Given the description of an element on the screen output the (x, y) to click on. 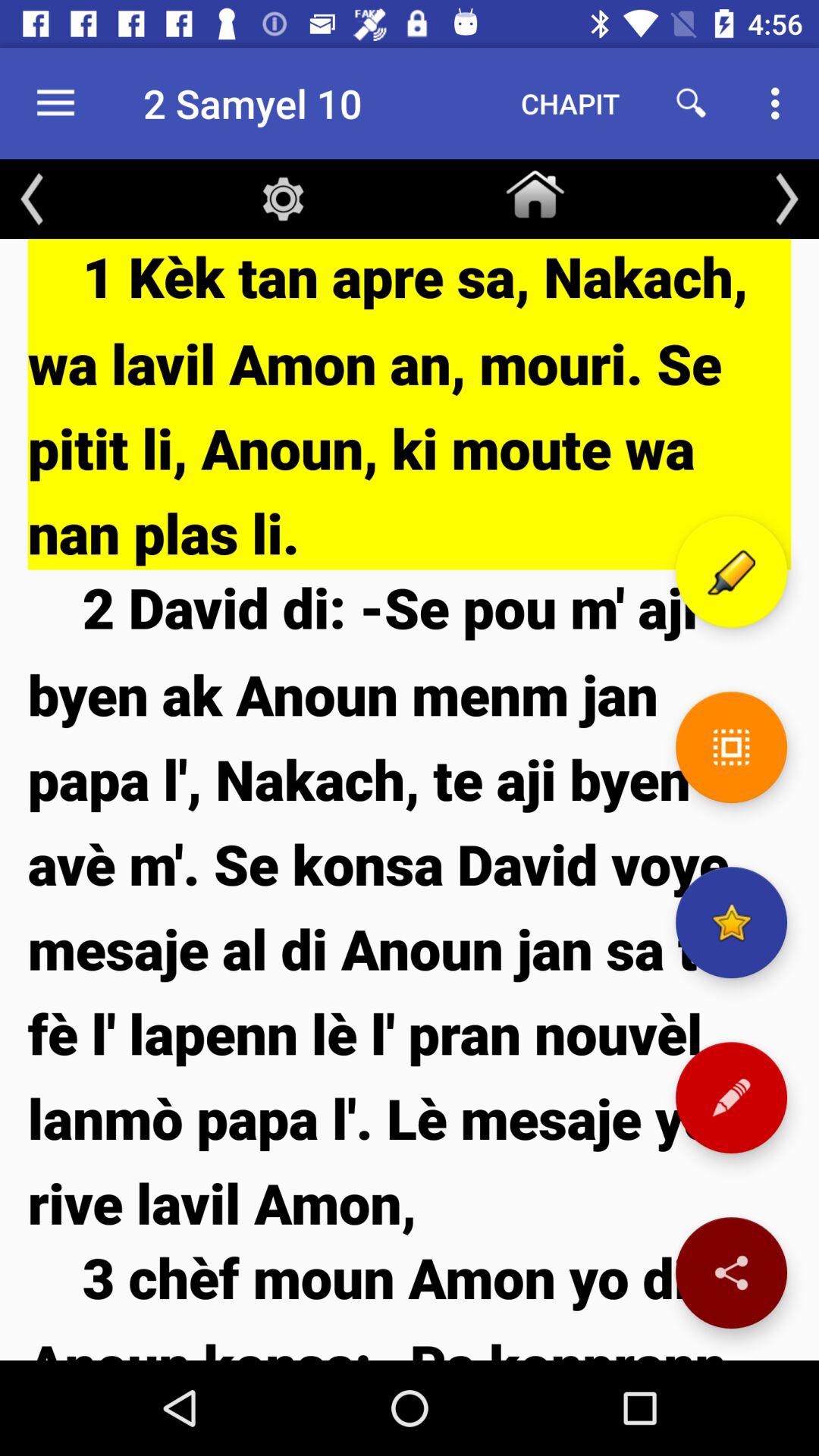
select the icon next to 2 samyel 10 icon (55, 103)
